Given the description of an element on the screen output the (x, y) to click on. 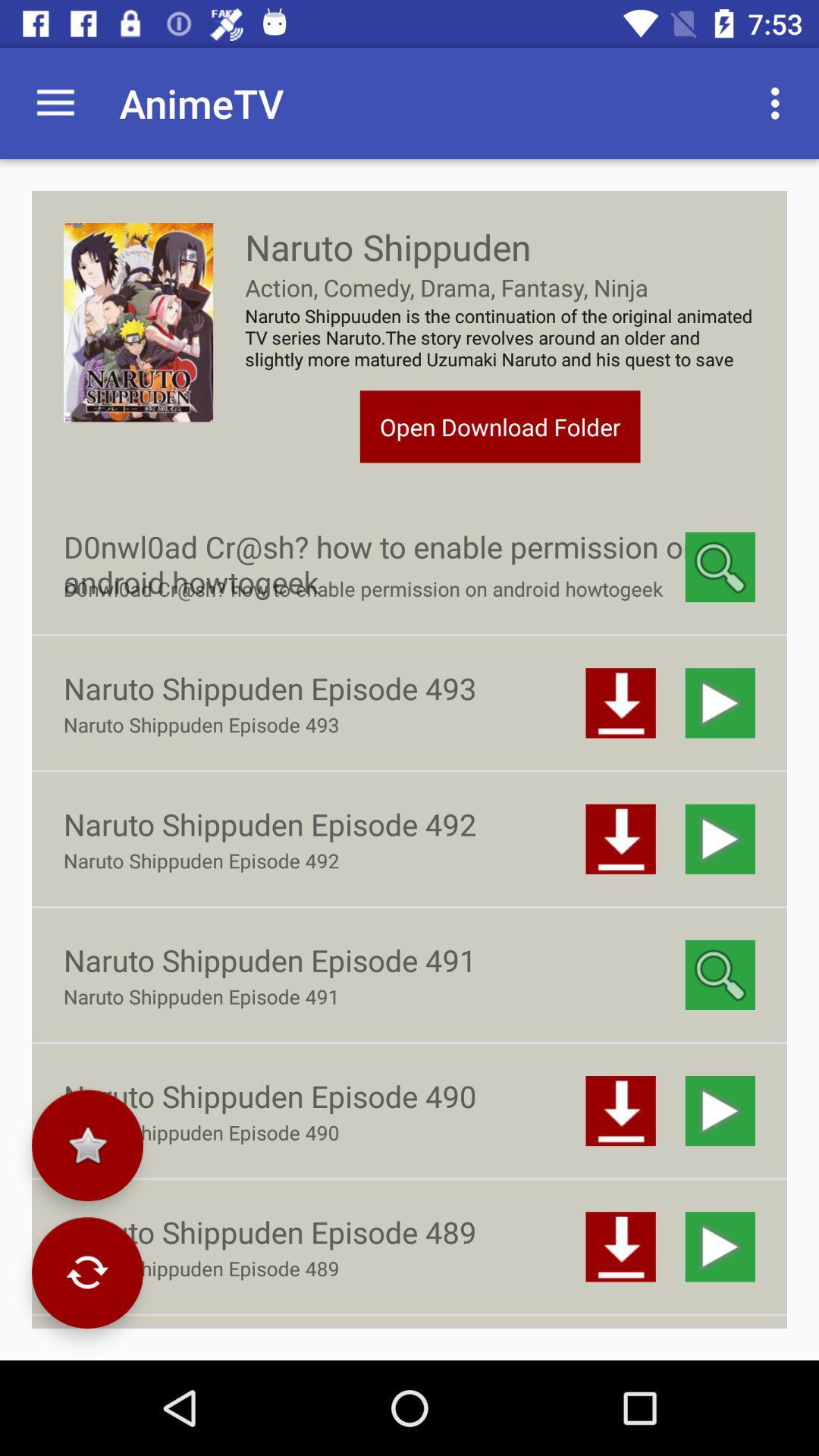
launch icon next to the animetv icon (55, 103)
